Given the description of an element on the screen output the (x, y) to click on. 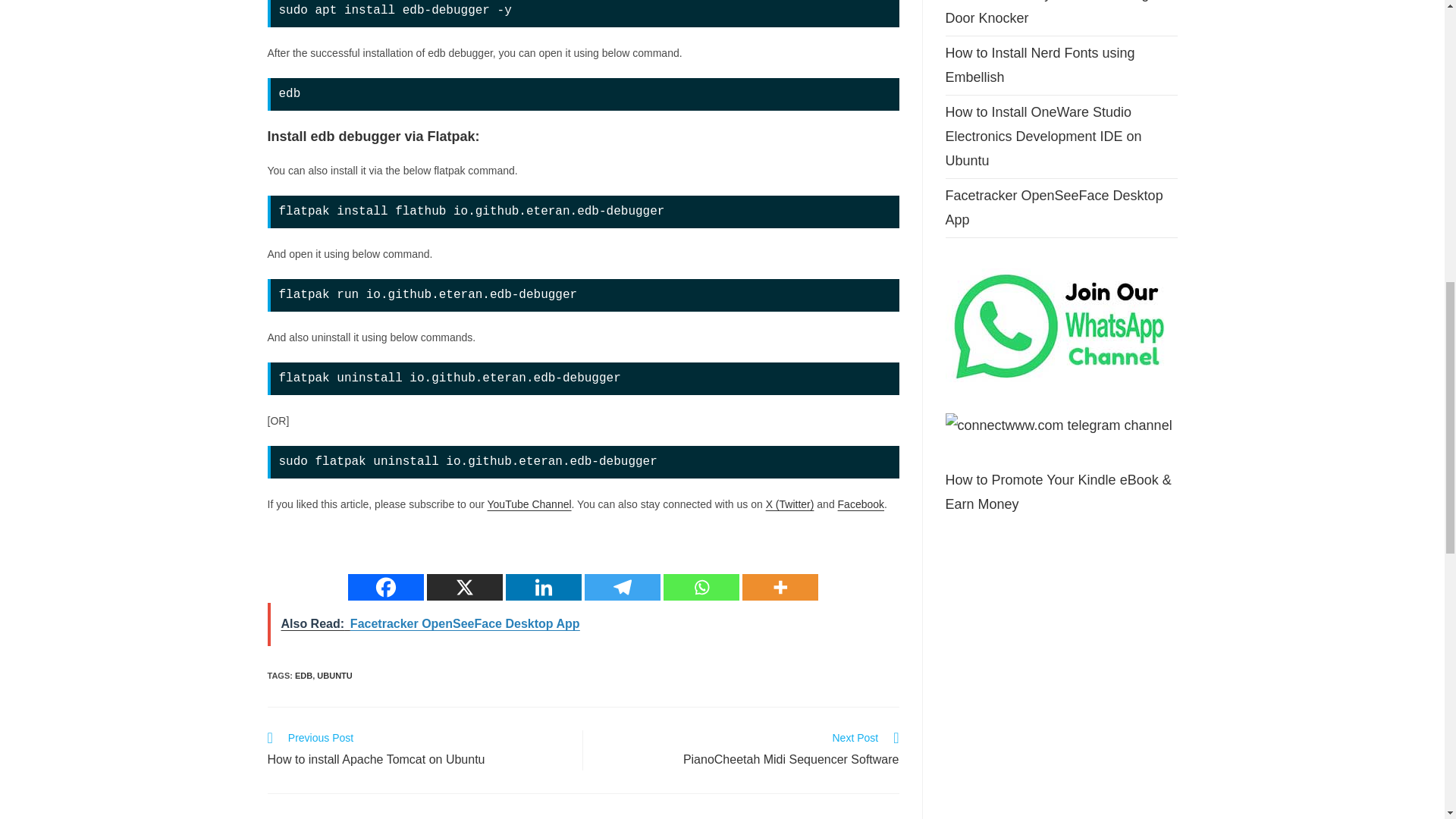
Telegram (623, 587)
X (464, 587)
Whatsapp (701, 587)
More (780, 587)
Linkedin (542, 587)
Facebook (385, 587)
